Given the description of an element on the screen output the (x, y) to click on. 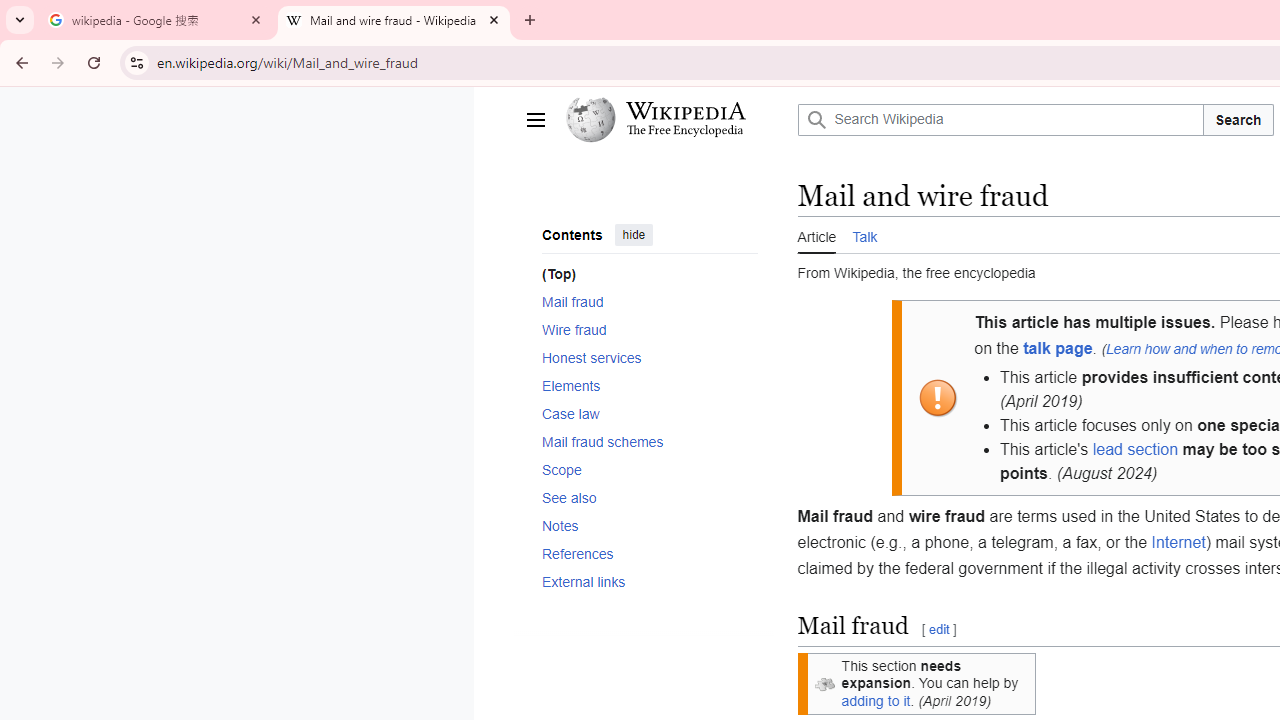
AutomationID: toc-Mail_fraud (642, 301)
Notes (649, 525)
Scope (649, 469)
Wire fraud (649, 329)
edit (938, 629)
AutomationID: toc-Wire_fraud (642, 329)
AutomationID: toc-mw-content-text (642, 273)
Mail and wire fraud - Wikipedia (394, 20)
Mail fraud (649, 301)
Elements (649, 385)
AutomationID: toc-External_links (642, 581)
Wikipedia (685, 111)
